Given the description of an element on the screen output the (x, y) to click on. 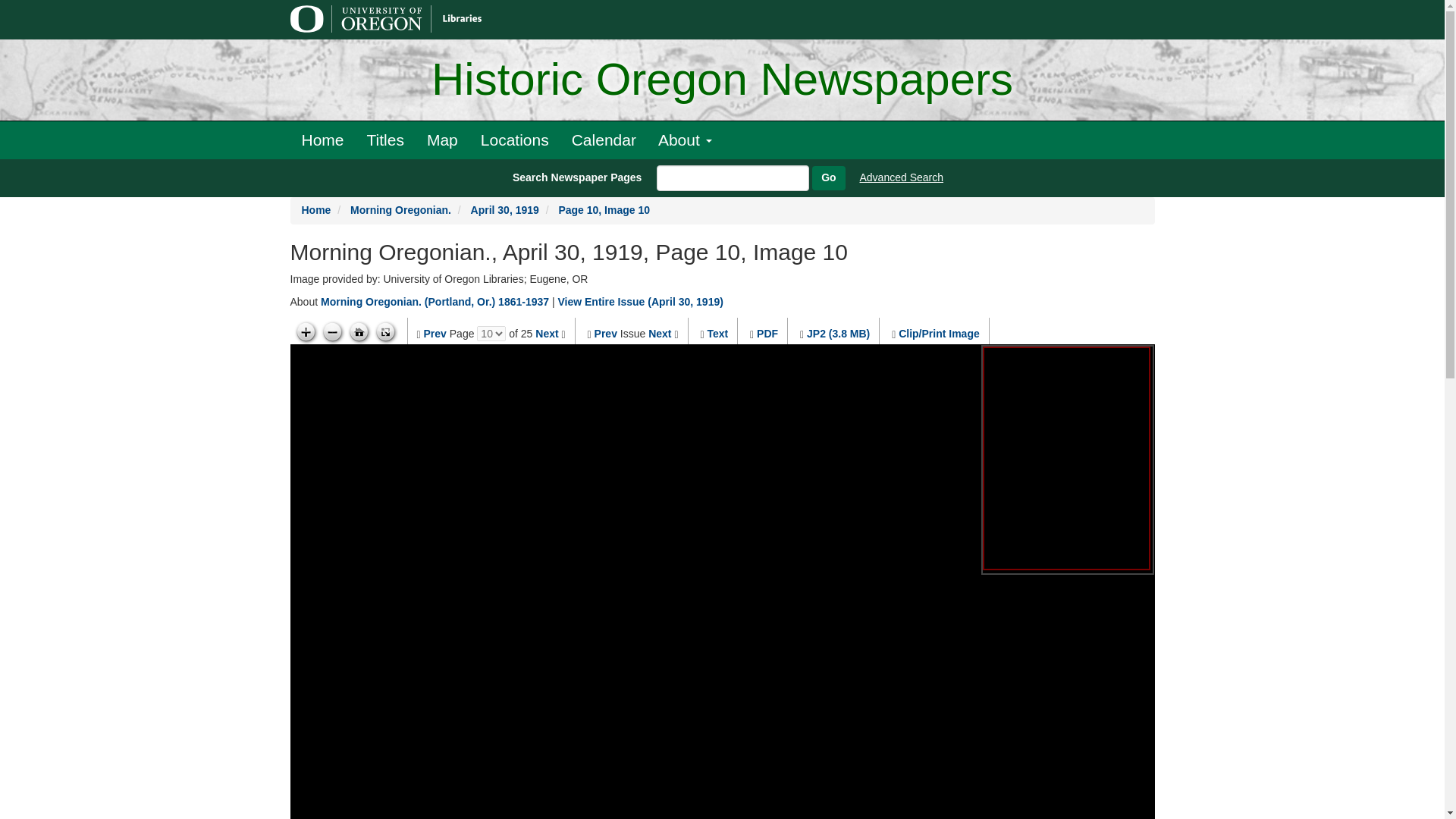
Text (717, 333)
Go home (359, 332)
Advanced Search (901, 177)
Map (441, 139)
April 30, 1919 (504, 209)
Titles (384, 139)
Zoom in (305, 332)
Page 10, Image 10 (603, 209)
Go (828, 178)
Calendar (603, 139)
Locations (514, 139)
Next (659, 333)
PDF (767, 333)
Next (546, 333)
Home (316, 209)
